Given the description of an element on the screen output the (x, y) to click on. 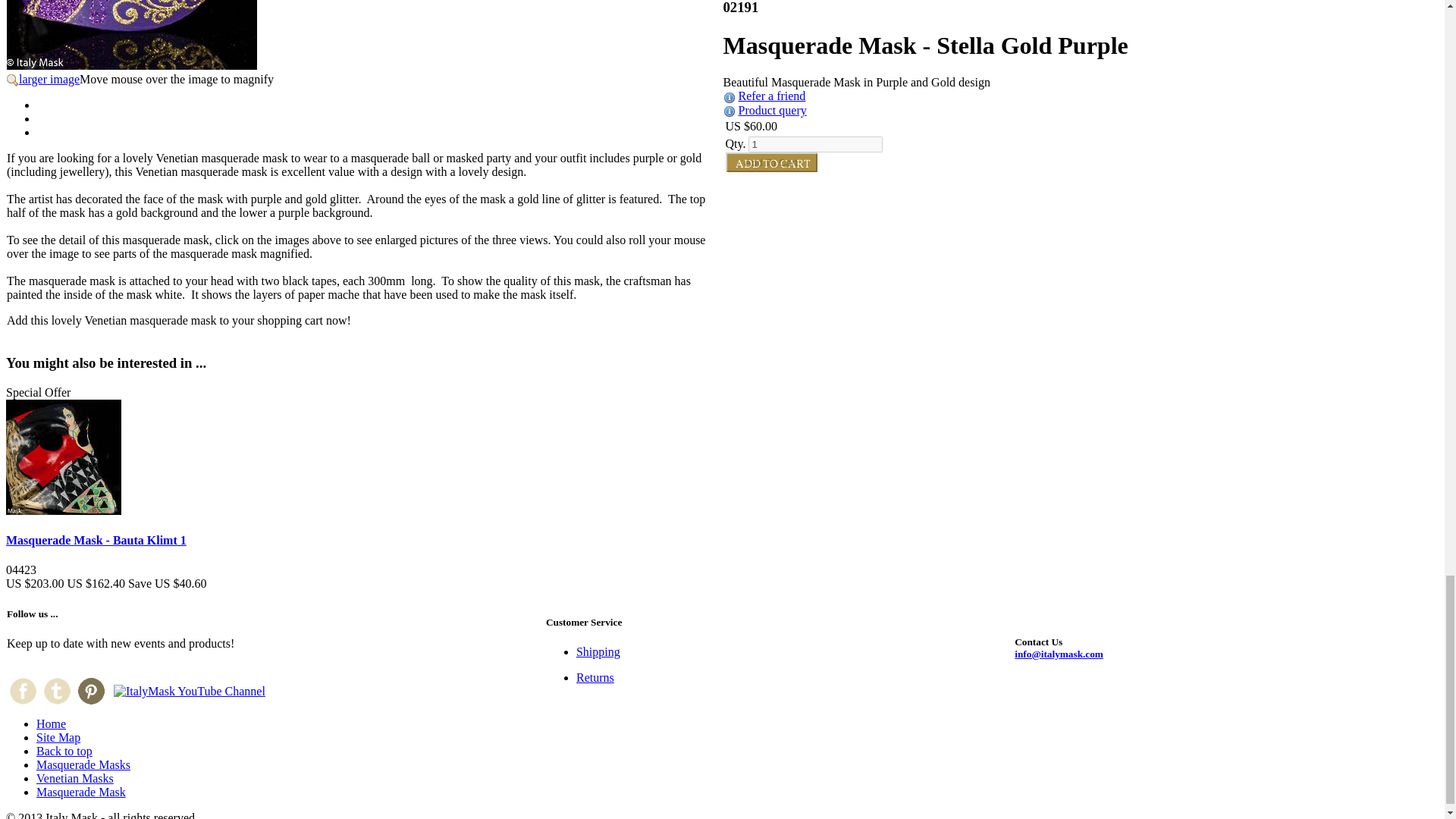
ItalyMask YouTube Channel (188, 691)
Pinterest (91, 691)
1 (815, 144)
Add To Cart (770, 161)
Facebook (23, 691)
Twitter (56, 691)
